Given the description of an element on the screen output the (x, y) to click on. 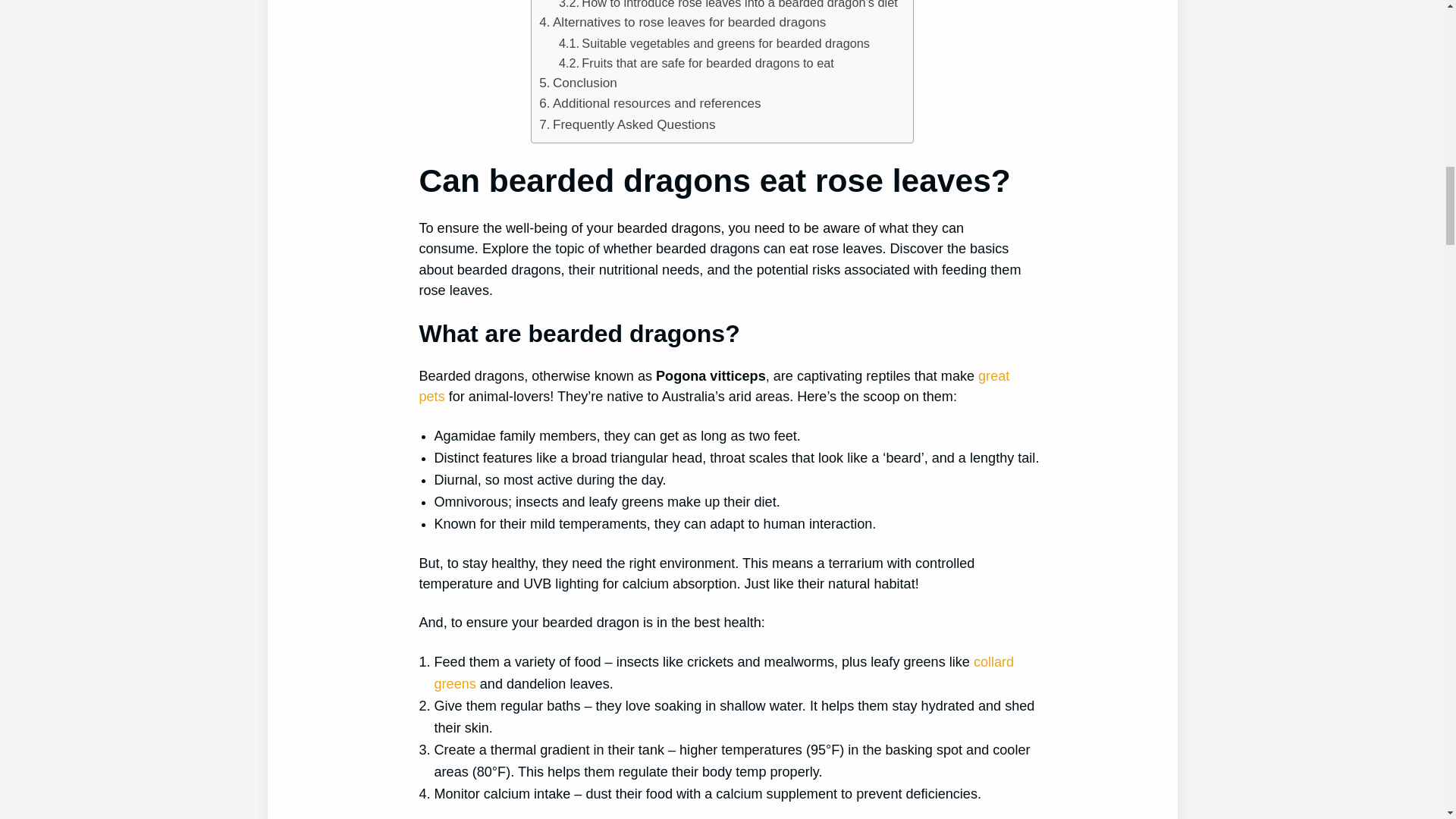
great pets (714, 386)
collard greens (723, 672)
Suitable vegetables and greens for bearded dragons (714, 43)
Fruits that are safe for bearded dragons to eat (696, 62)
Frequently Asked Questions (626, 124)
Conclusion (577, 82)
Additional resources and references (649, 103)
Alternatives to rose leaves for bearded dragons (681, 22)
